Given the description of an element on the screen output the (x, y) to click on. 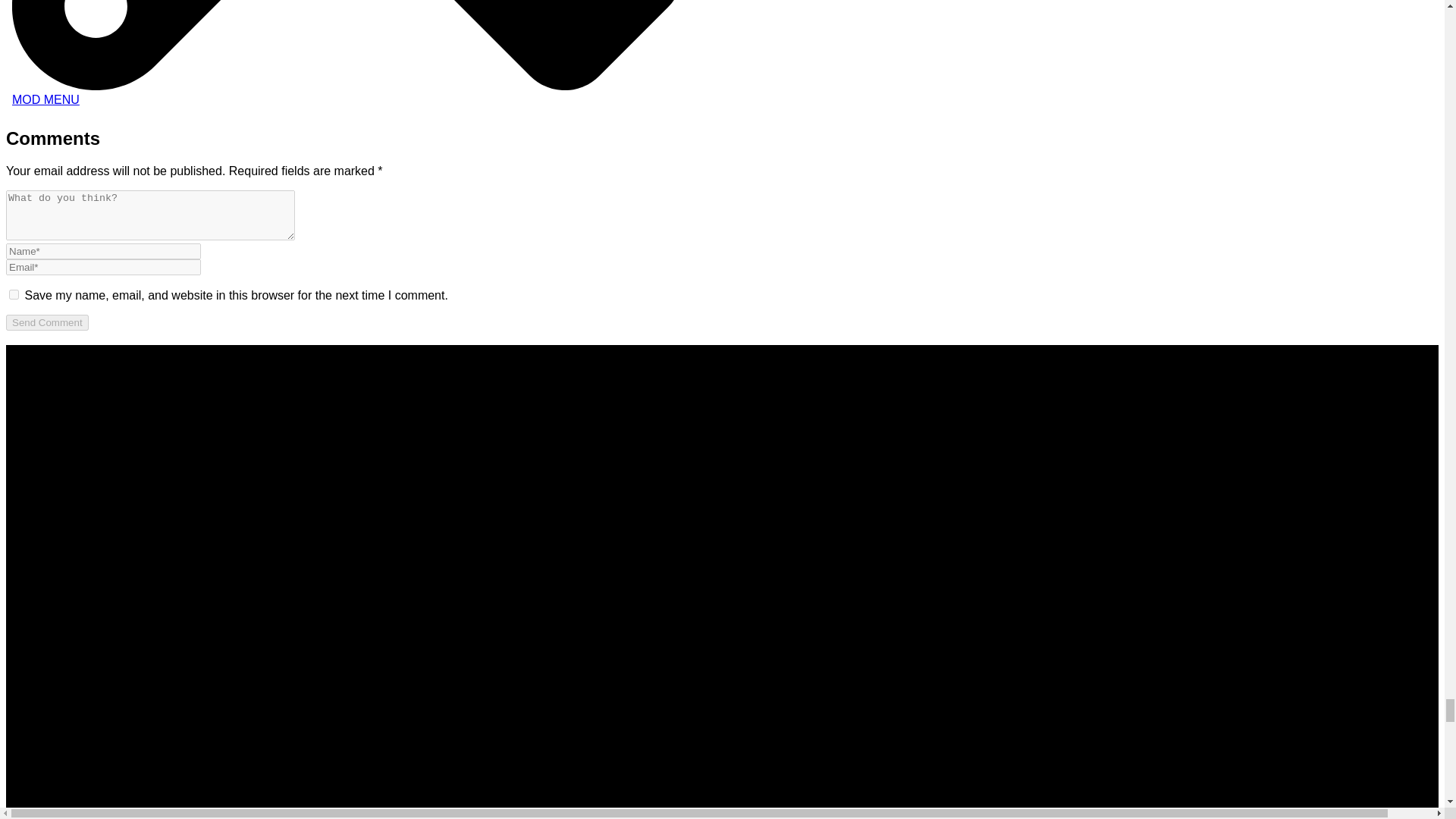
Snake Rivals - Fun Snake Game (346, 56)
yes (13, 294)
Send Comment (46, 322)
